Given the description of an element on the screen output the (x, y) to click on. 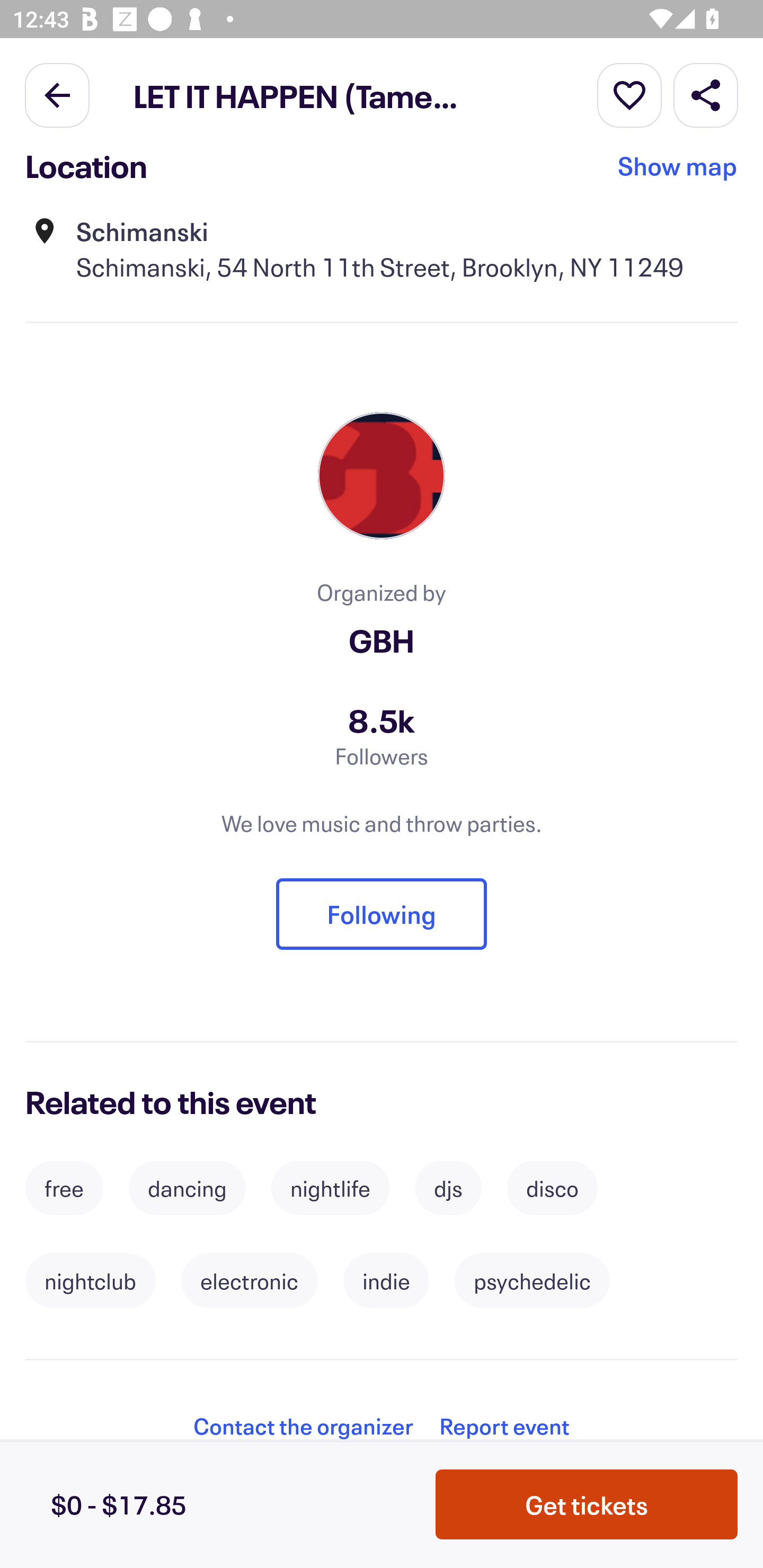
Back (57, 94)
More (629, 94)
Share (705, 94)
Show map (677, 171)
Organizer profile picture (381, 475)
GBH (381, 640)
Following (381, 913)
free (64, 1187)
dancing (186, 1187)
nightlife (330, 1187)
djs (448, 1187)
disco (552, 1187)
nightclub (90, 1280)
electronic (249, 1280)
indie (385, 1280)
psychedelic (531, 1280)
Contact the organizer (303, 1425)
Report event (504, 1425)
Get tickets (586, 1504)
